Given the description of an element on the screen output the (x, y) to click on. 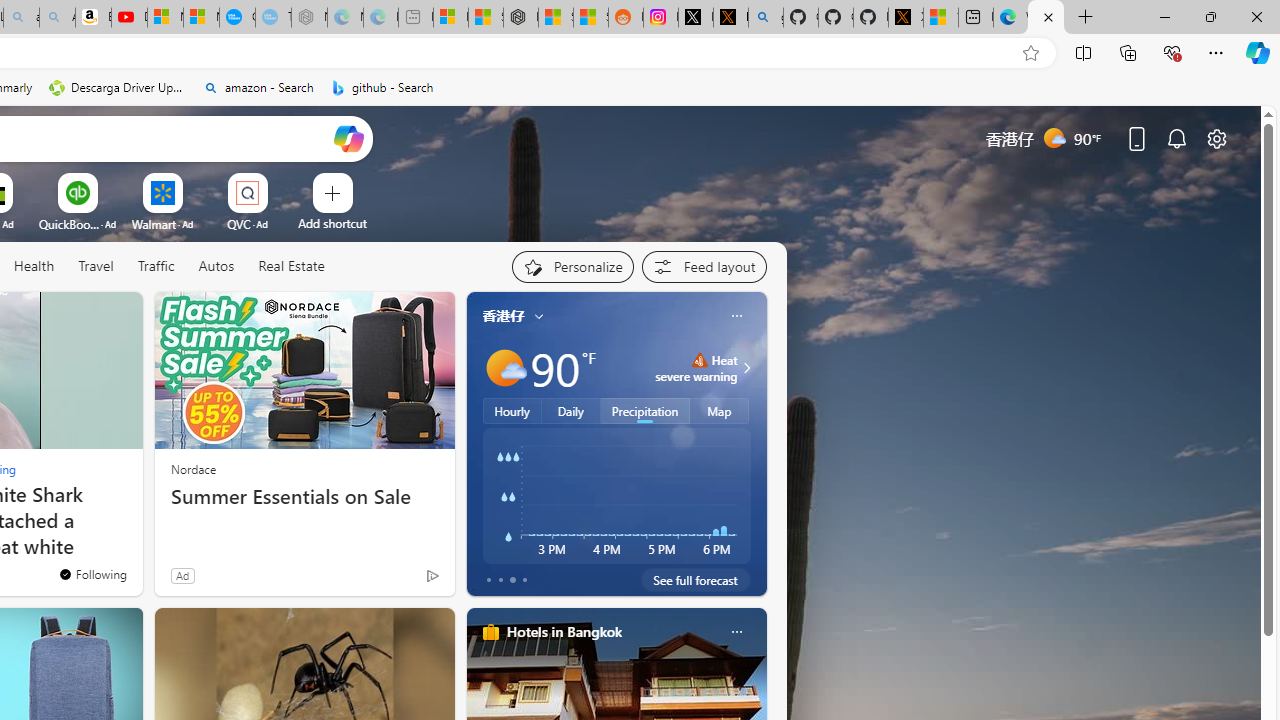
Settings and more (Alt+F) (1215, 52)
Mostly sunny (504, 368)
Real Estate (291, 265)
Health (34, 265)
hotels-header-icon (490, 632)
The most popular Google 'how to' searches - Sleeping (273, 17)
help.x.com | 524: A timeout occurred (730, 17)
Mostly sunny (504, 368)
3 PM 4 PM 5 PM 6 PM (616, 495)
Nordace - Duffels (520, 17)
Travel (95, 265)
Summer Essentials on Sale (304, 497)
Close tab (1048, 16)
